Given the description of an element on the screen output the (x, y) to click on. 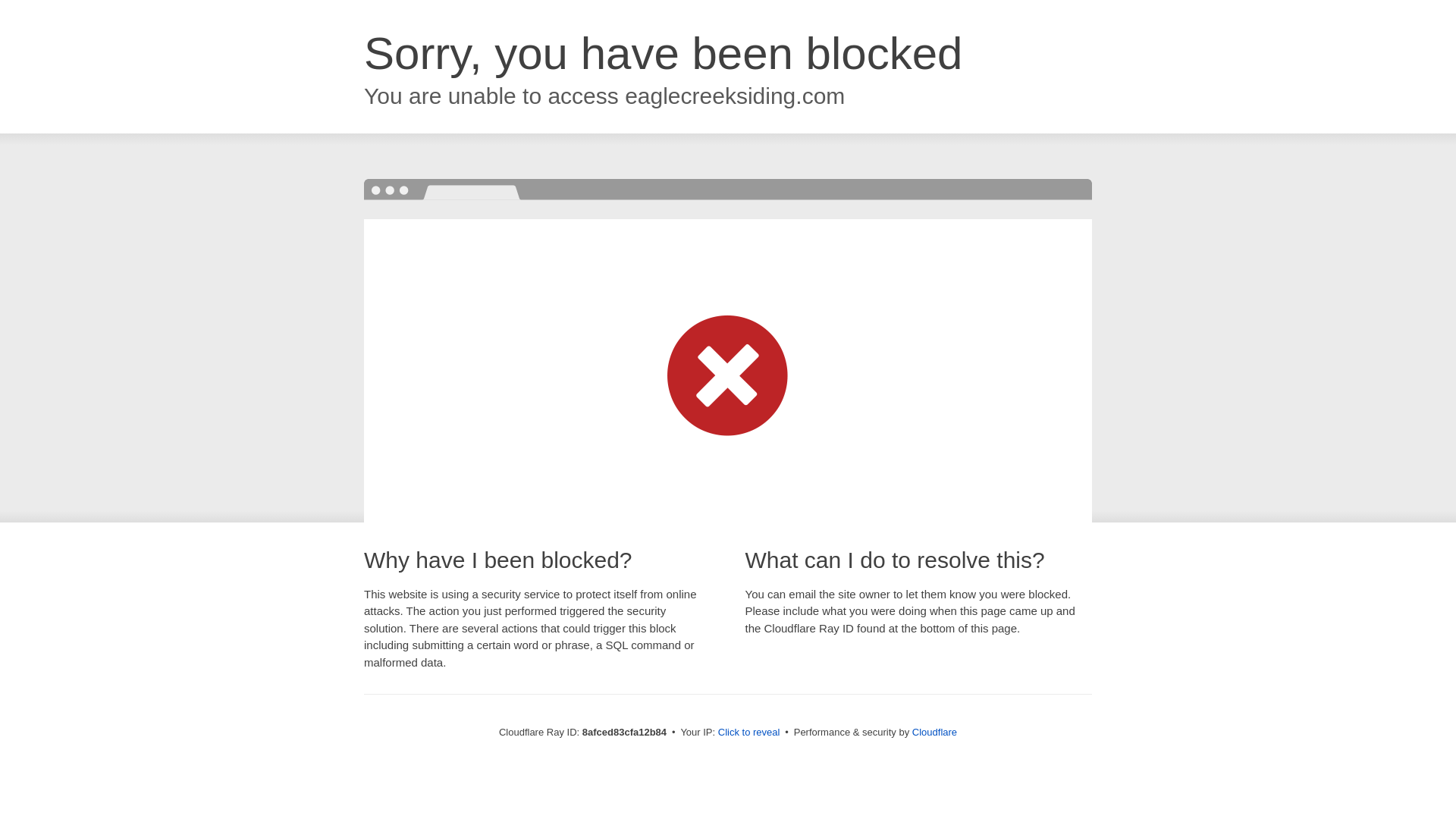
Cloudflare (934, 731)
Click to reveal (748, 732)
